Given the description of an element on the screen output the (x, y) to click on. 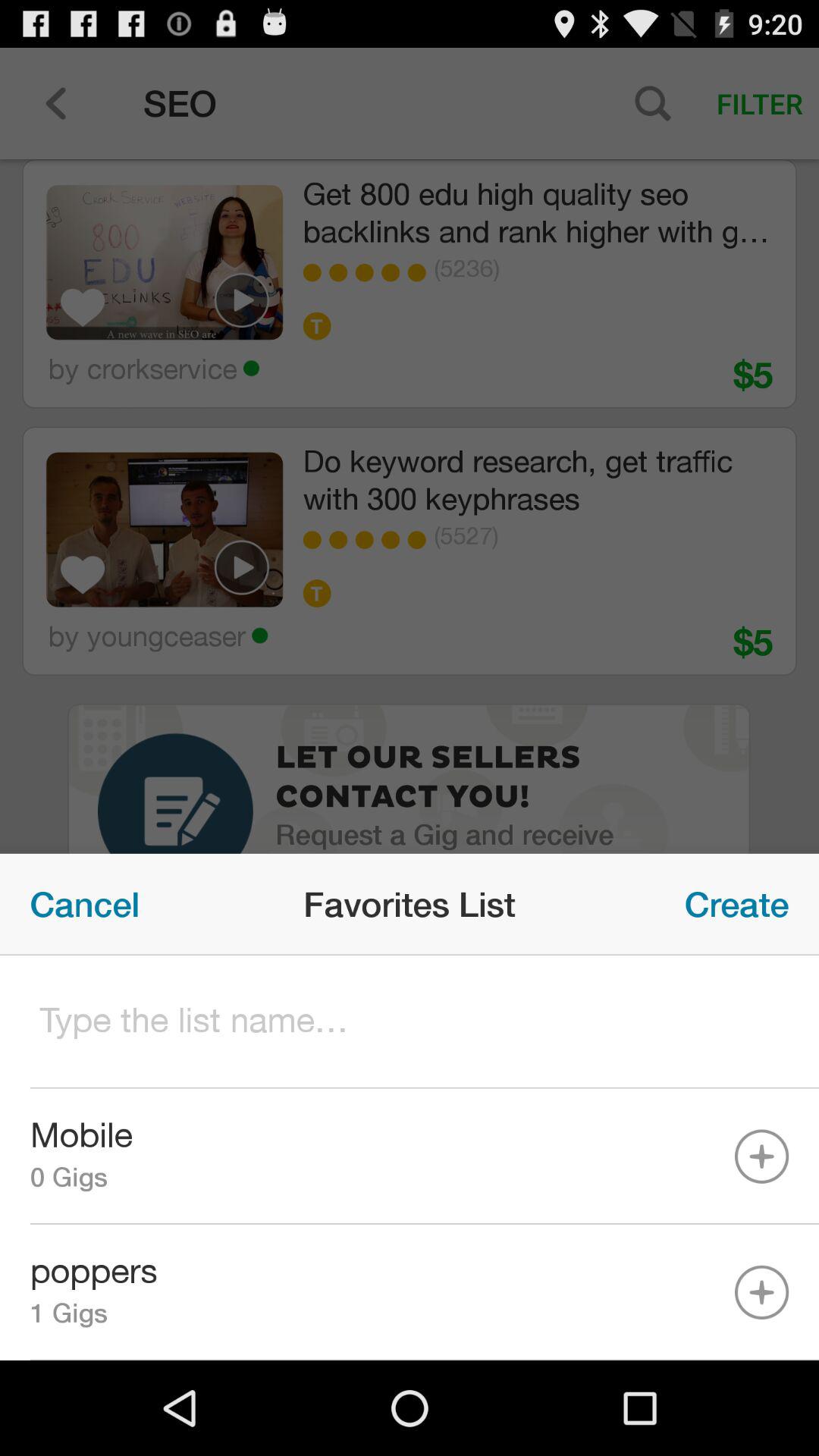
open icon next to favorites list icon (84, 903)
